Given the description of an element on the screen output the (x, y) to click on. 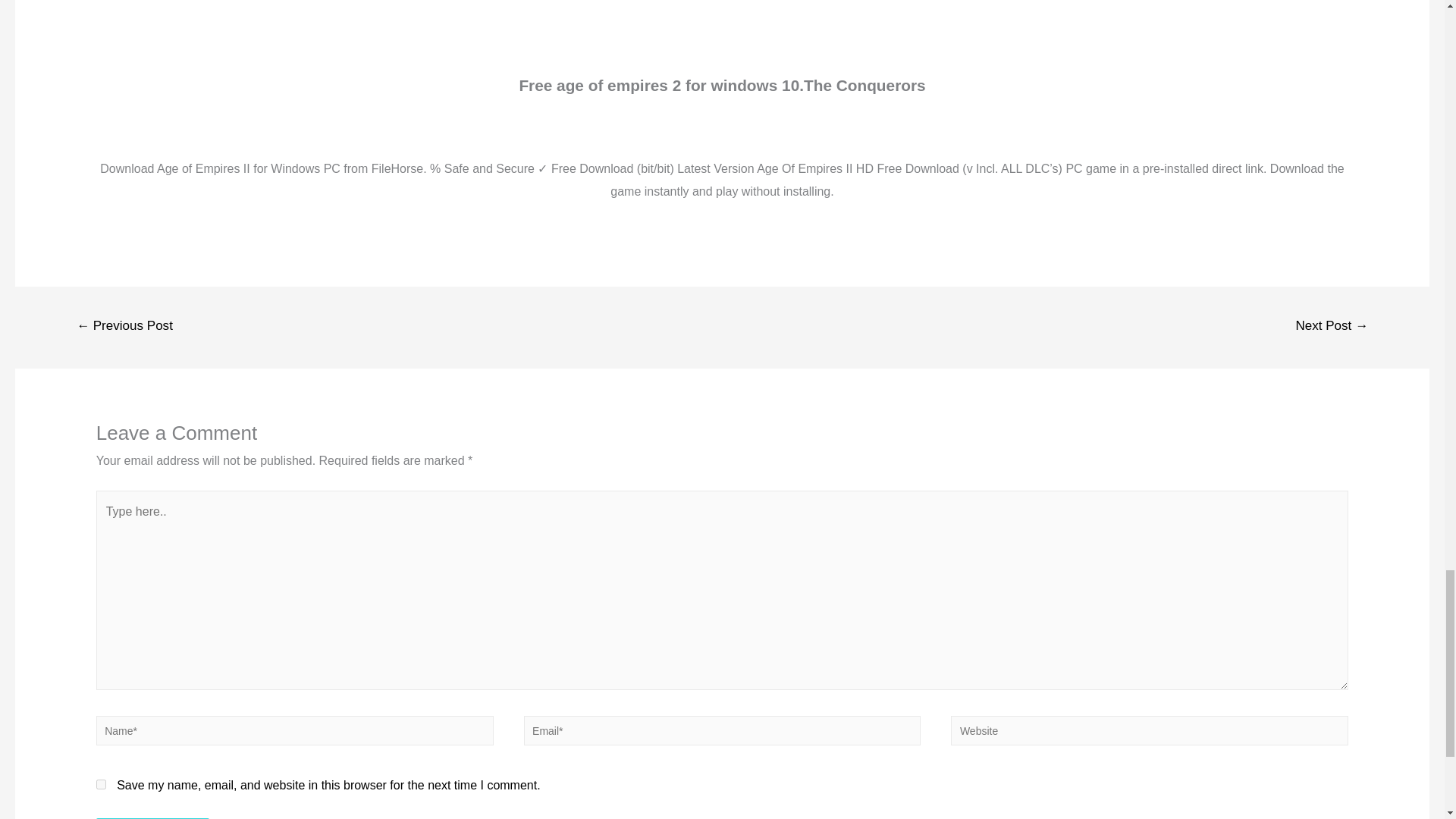
yes (101, 784)
